Given the description of an element on the screen output the (x, y) to click on. 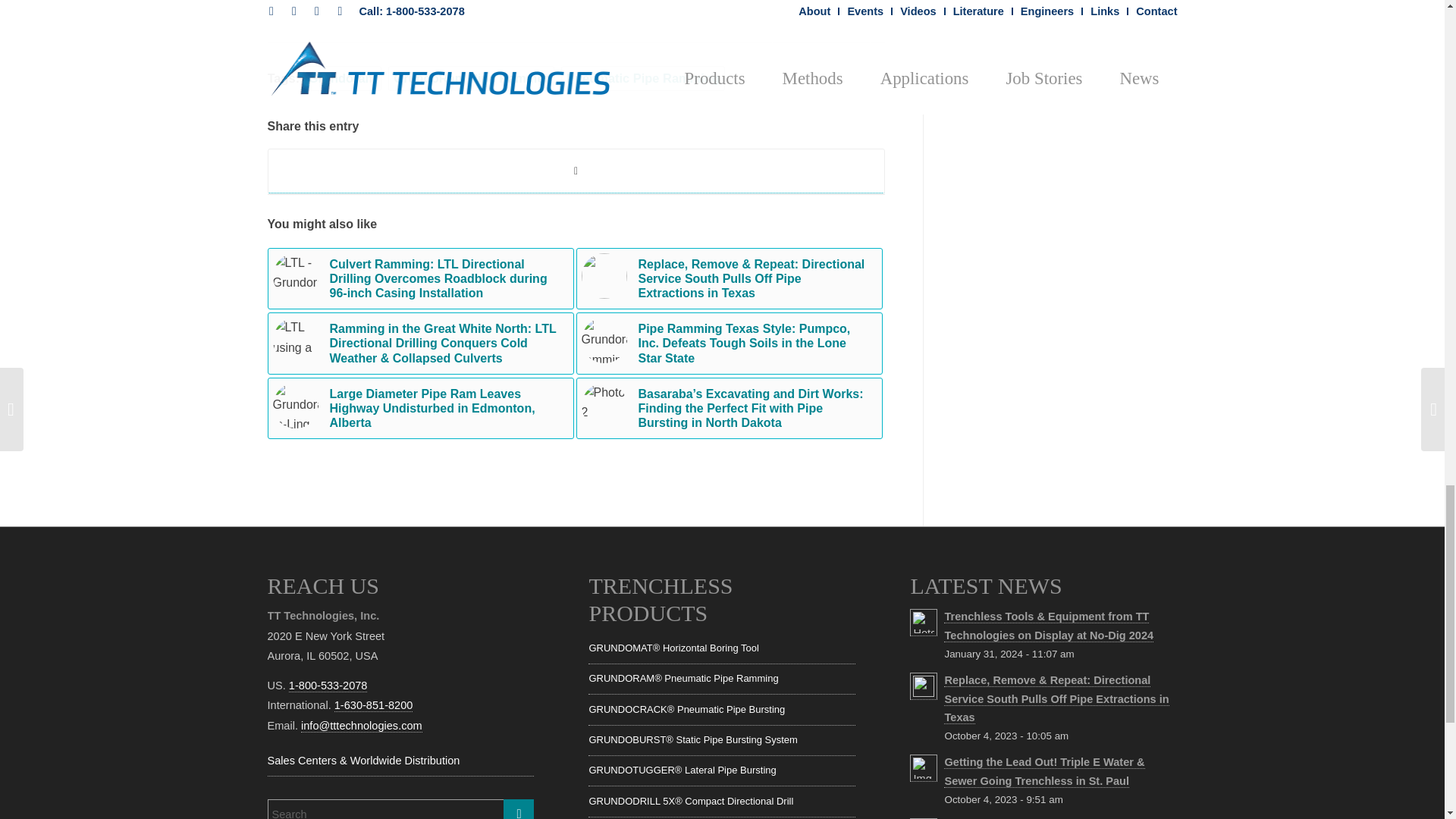
LTLRam4 (295, 275)
